Given the description of an element on the screen output the (x, y) to click on. 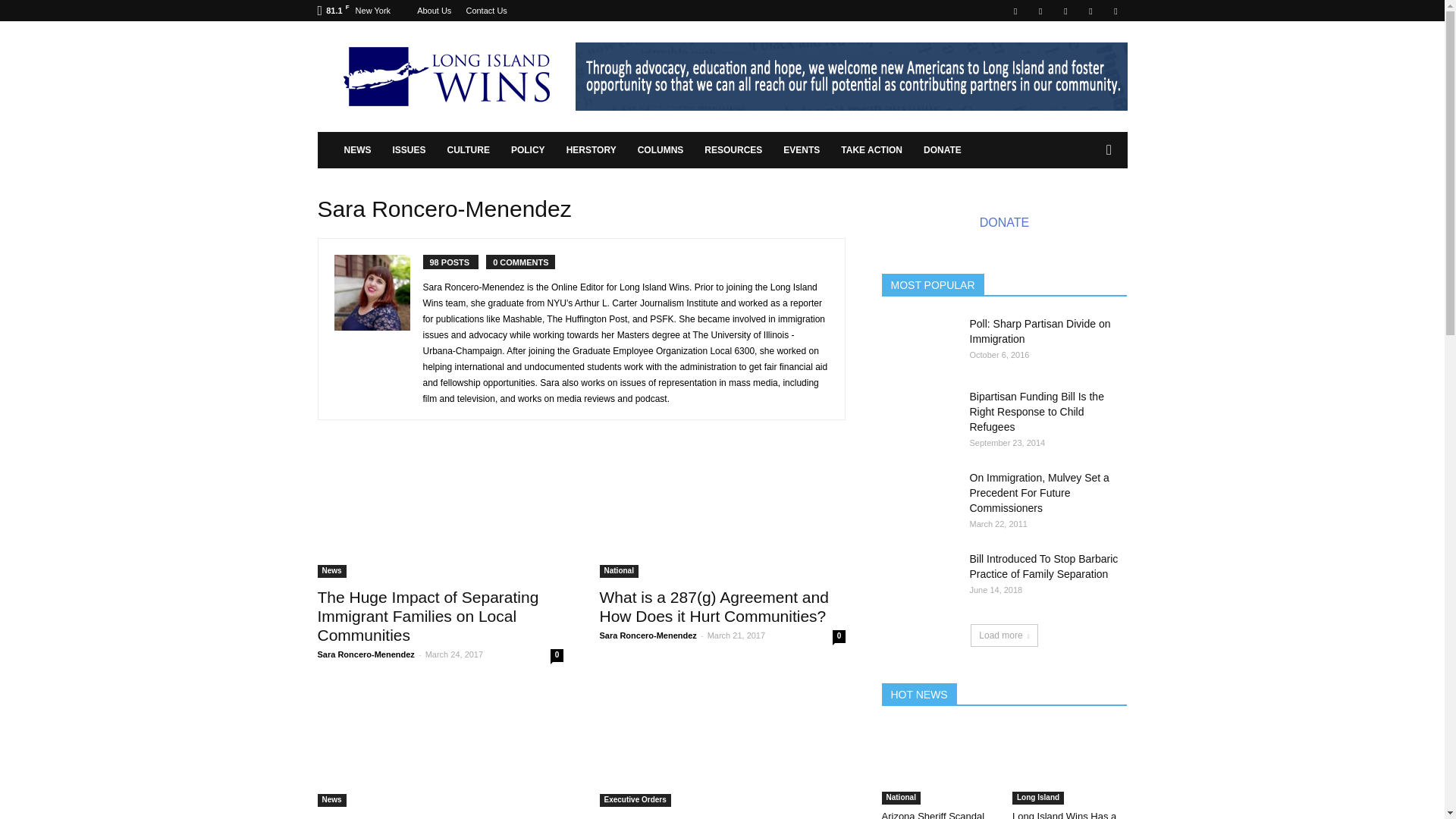
Youtube (1114, 10)
Facebook (1015, 10)
Soundcloud (1065, 10)
Instagram (1040, 10)
Twitter (1090, 10)
